Given the description of an element on the screen output the (x, y) to click on. 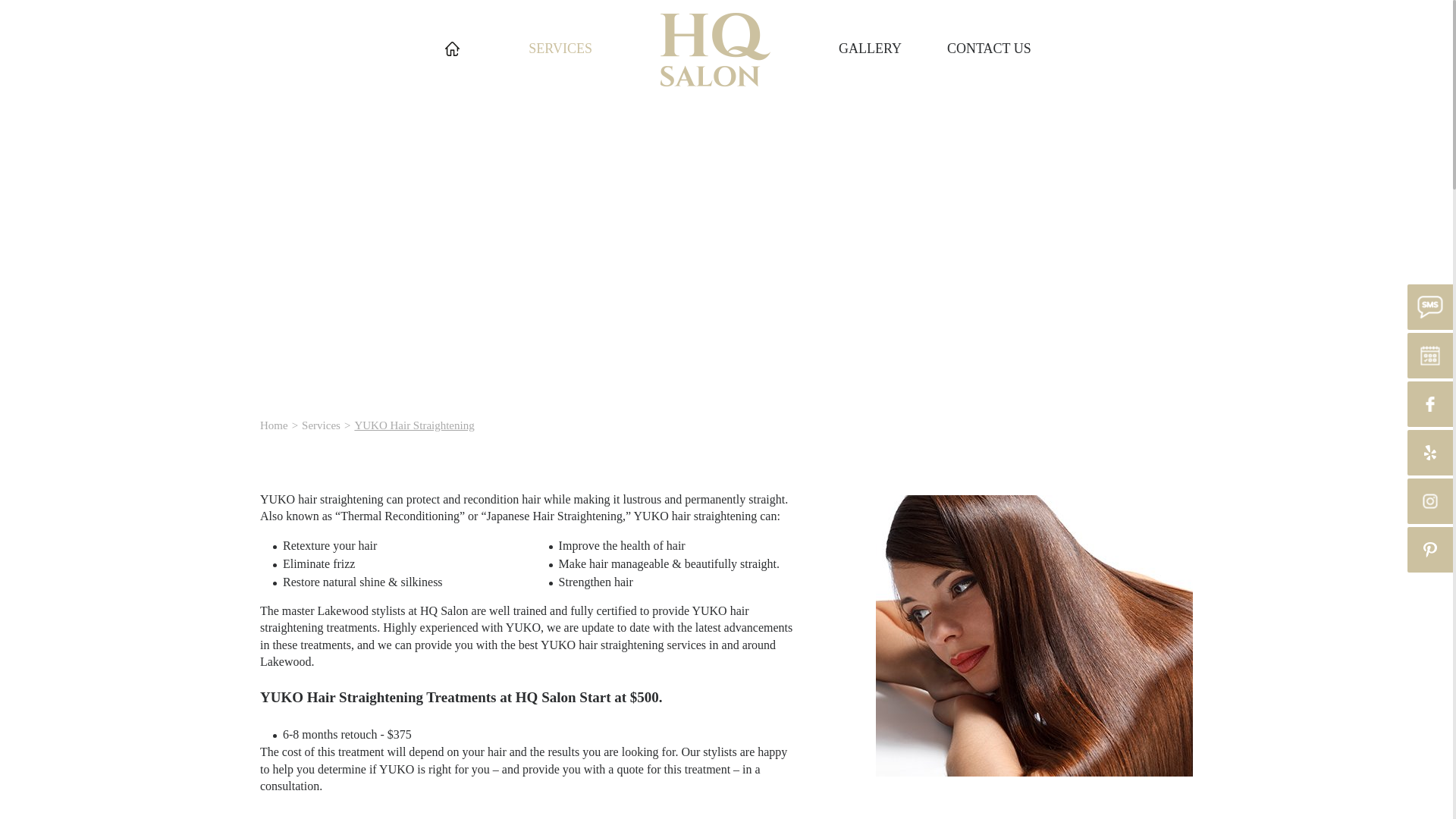
Services (320, 425)
GALLERY (869, 48)
CONTACT US (988, 48)
SERVICES (560, 48)
Home (274, 425)
HOME (451, 48)
